Given the description of an element on the screen output the (x, y) to click on. 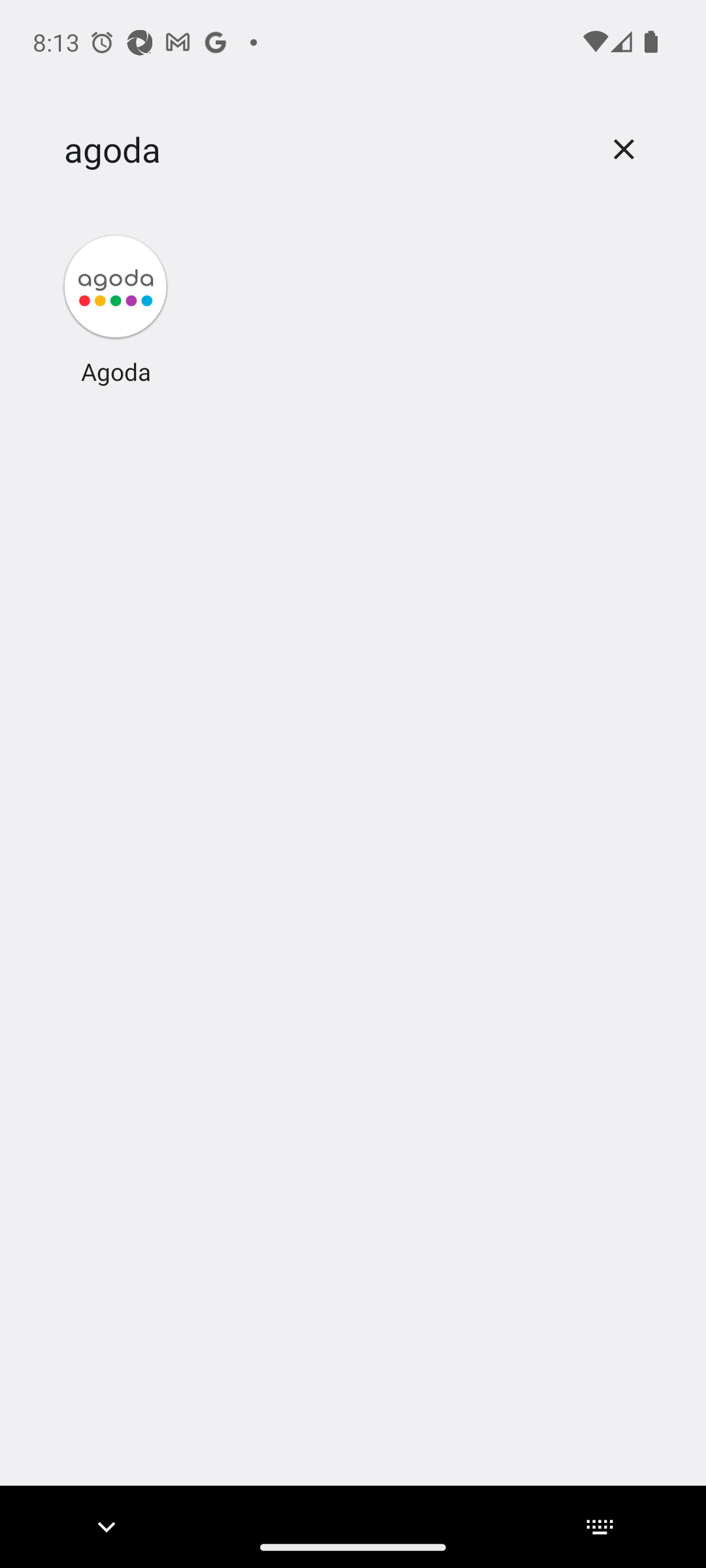
agoda (321, 149)
Clear search box (623, 149)
Agoda (115, 308)
